Given the description of an element on the screen output the (x, y) to click on. 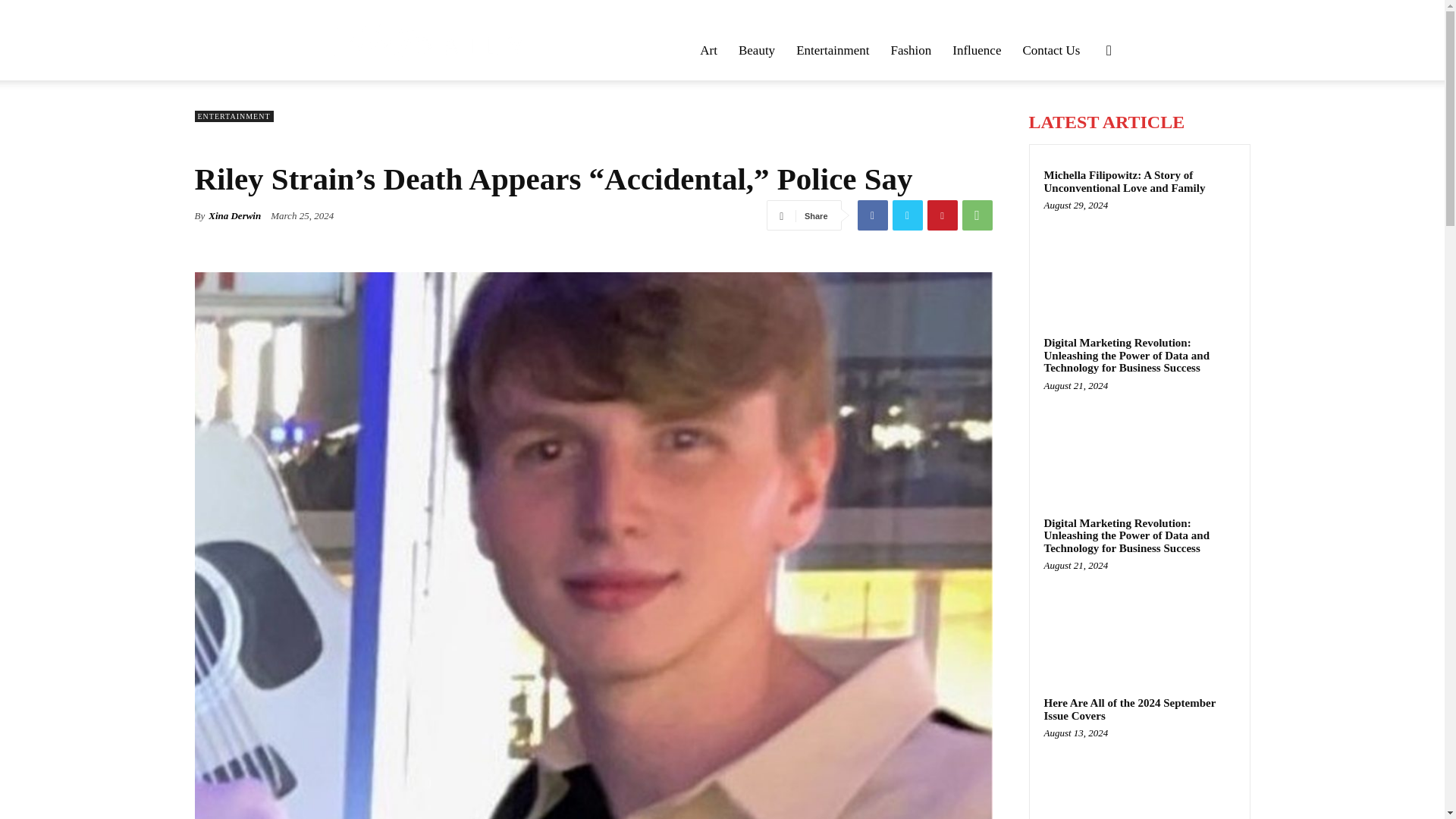
Beauty (757, 50)
Xina Derwin (234, 215)
Search (1085, 122)
Contact Us (1050, 50)
Facebook (871, 214)
Celebrity Daily (427, 39)
Entertainment (832, 50)
Pinterest (941, 214)
Twitter (906, 214)
ENTERTAINMENT (233, 116)
